Given the description of an element on the screen output the (x, y) to click on. 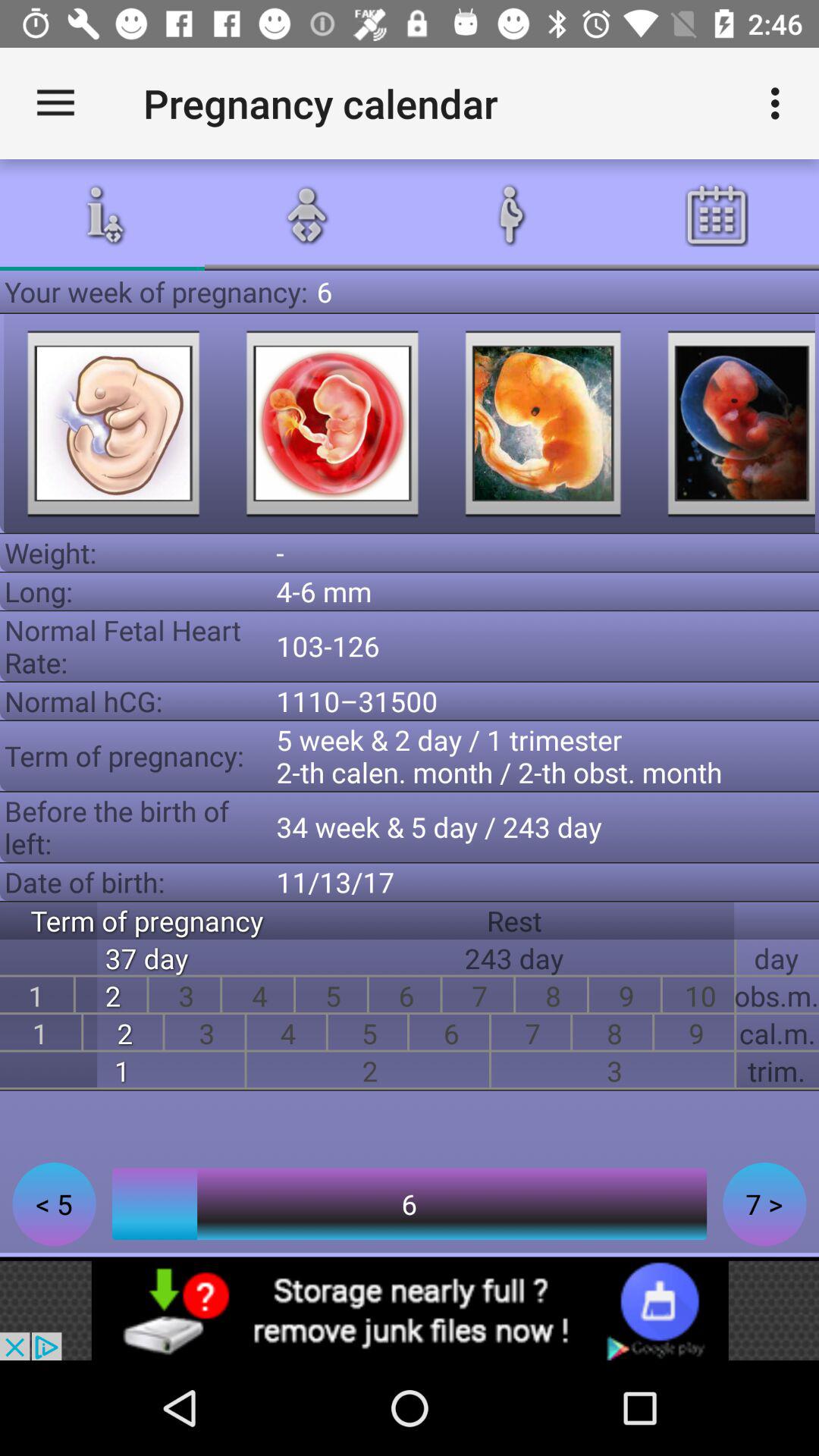
fetus scan image (331, 422)
